Given the description of an element on the screen output the (x, y) to click on. 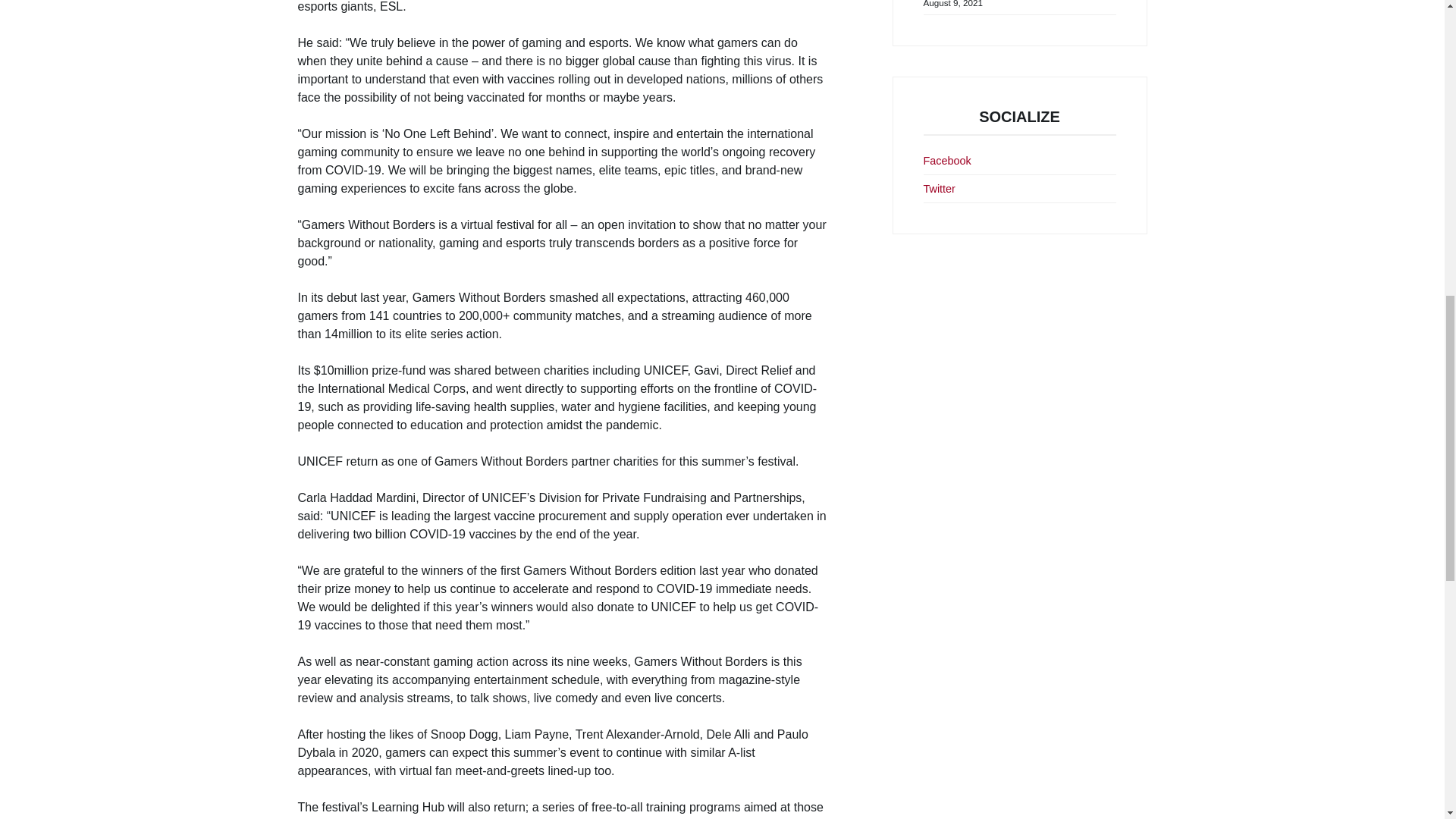
Twitter (939, 189)
Facebook (947, 161)
